Given the description of an element on the screen output the (x, y) to click on. 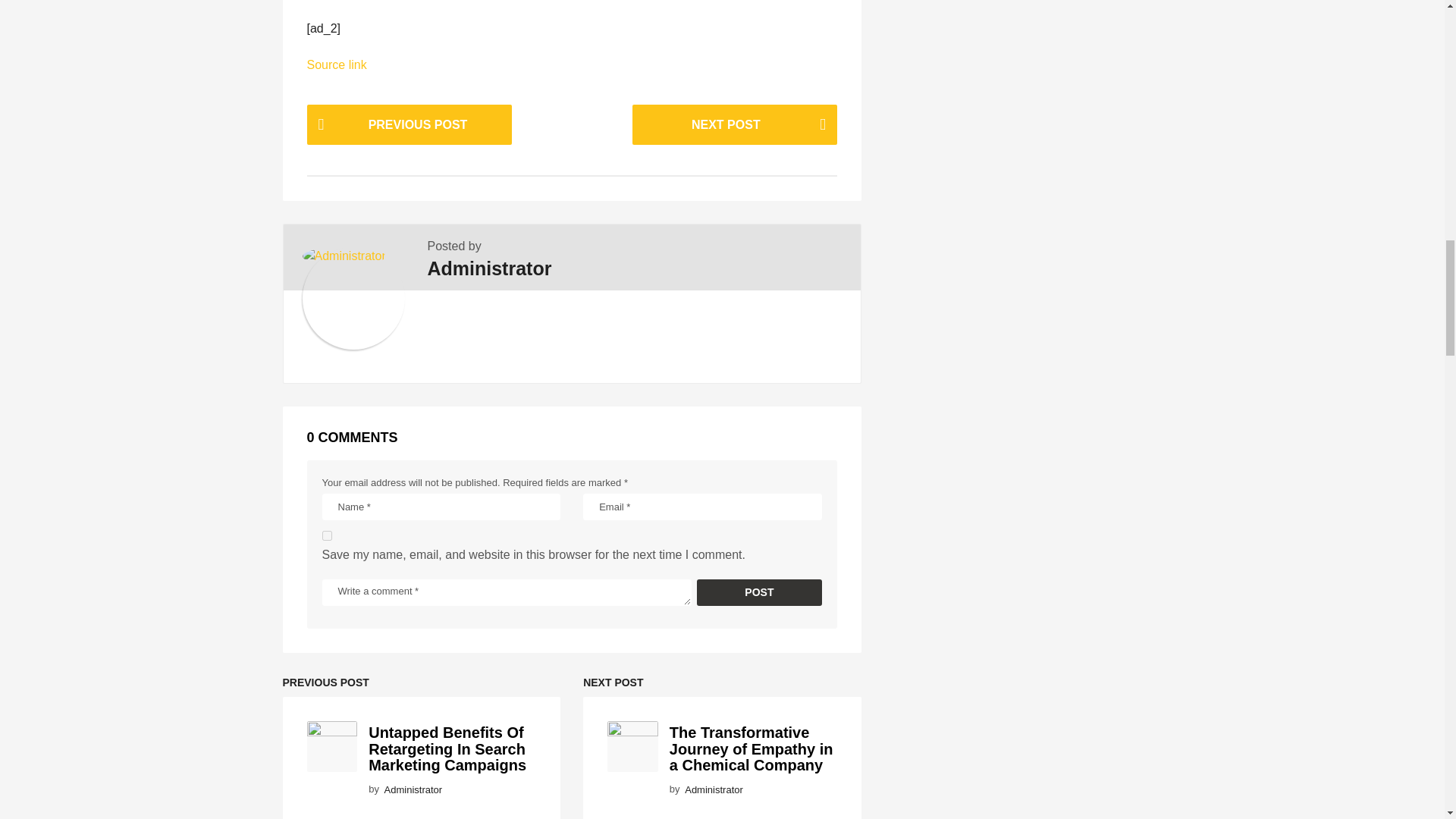
Post (759, 592)
yes (326, 535)
